Given the description of an element on the screen output the (x, y) to click on. 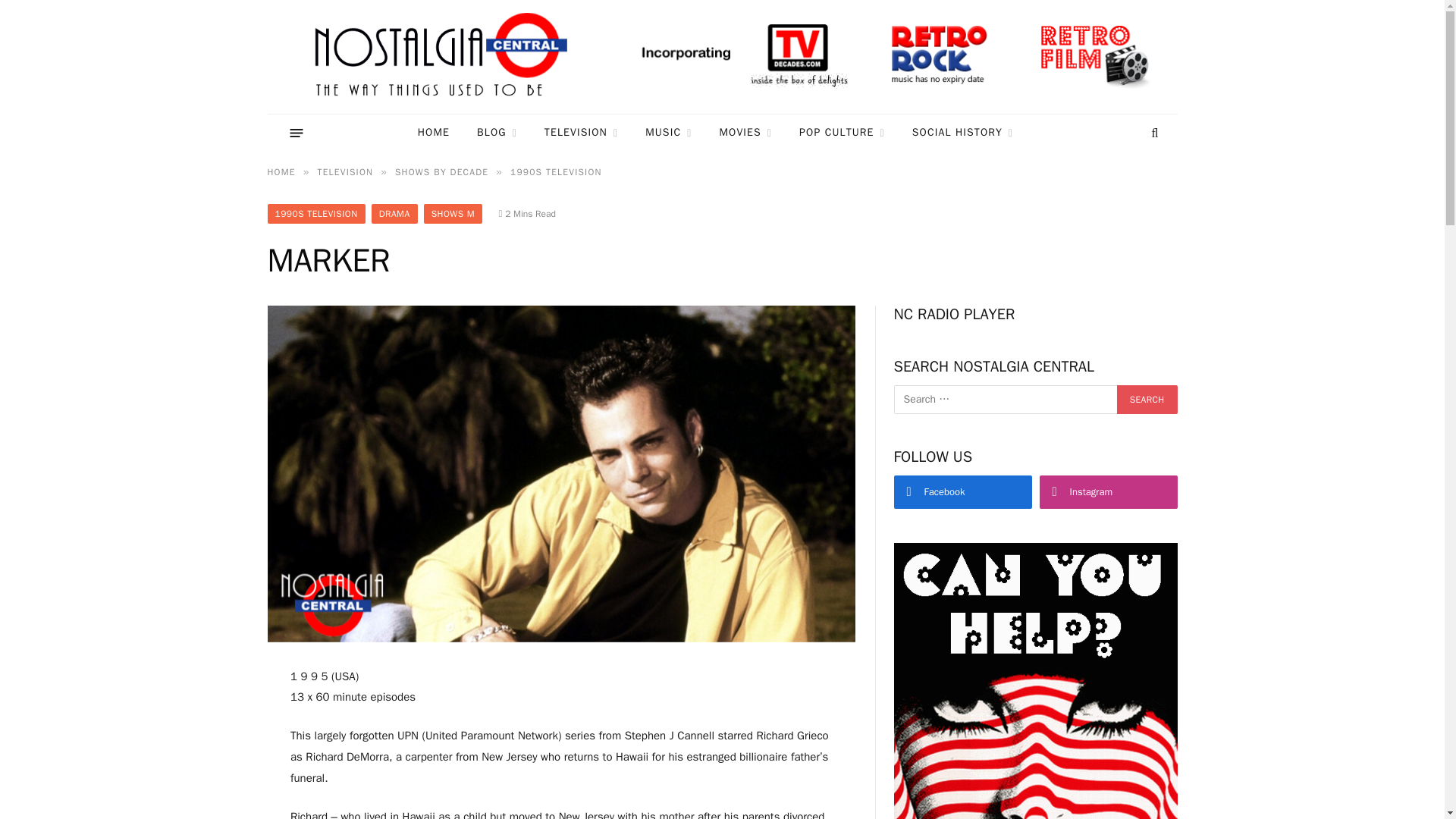
HOME (433, 132)
Search (1146, 399)
TELEVISION (581, 132)
BLOG (497, 132)
Nostalgia Central (444, 56)
Search (1146, 399)
